Given the description of an element on the screen output the (x, y) to click on. 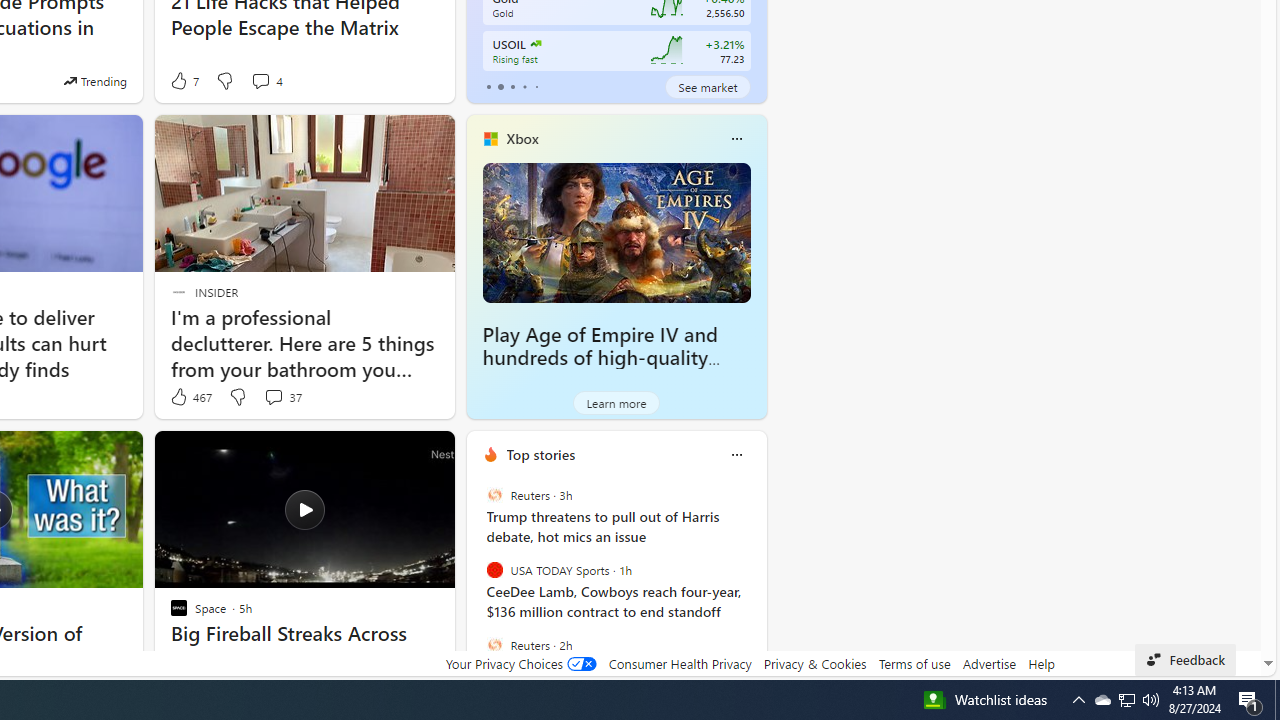
This story is trending (95, 80)
Feedback (1185, 659)
Xbox (521, 139)
Your Privacy Choices (520, 663)
tab-4 (535, 86)
7 Like (183, 80)
View comments 4 Comment (265, 80)
See more (429, 454)
Class: icon-img (736, 454)
